Given the description of an element on the screen output the (x, y) to click on. 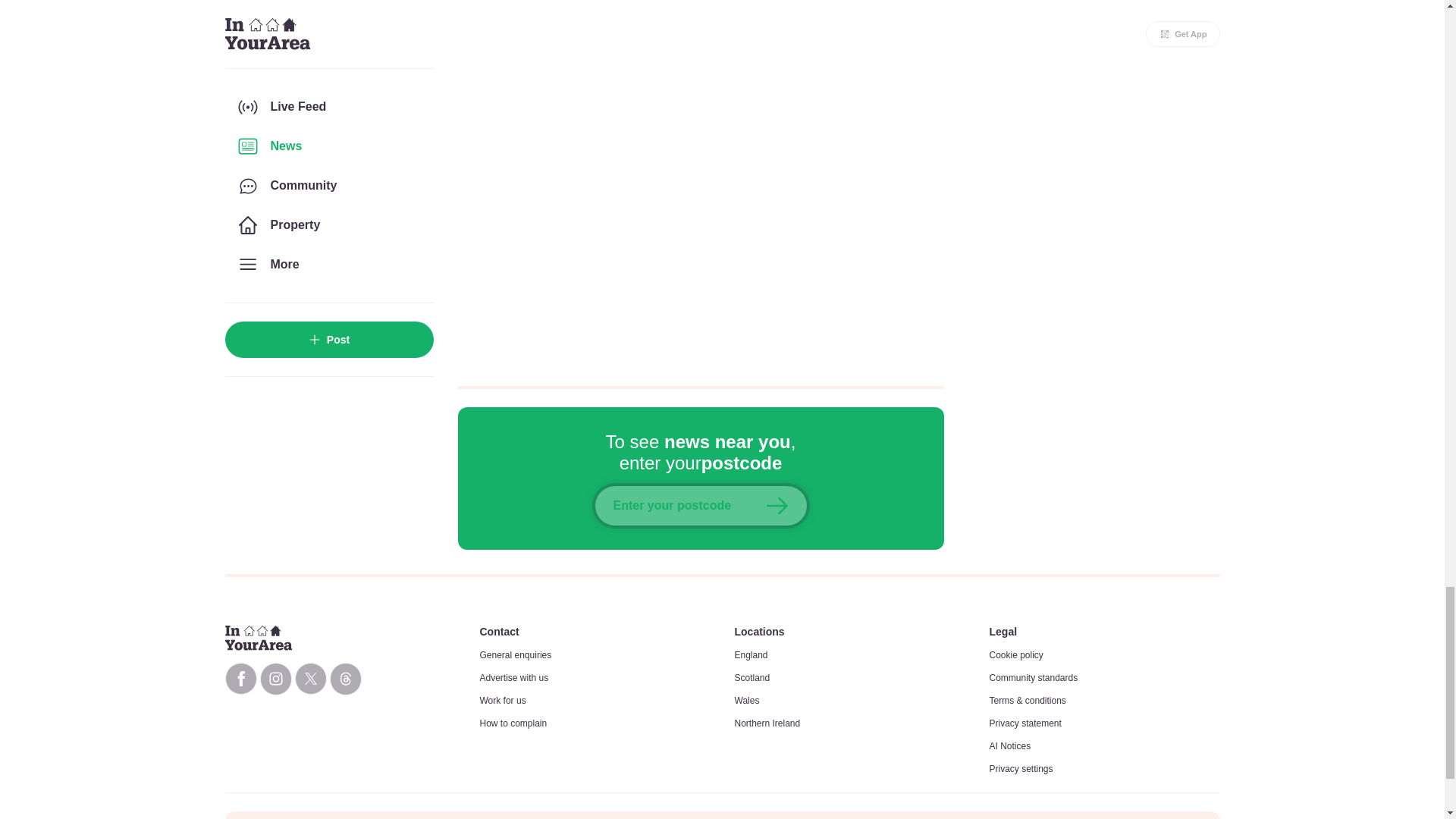
InYourArea Threads (345, 678)
InYourArea Facebook (240, 678)
InYourArea Instagram (275, 678)
InYourArea X (310, 678)
